Given the description of an element on the screen output the (x, y) to click on. 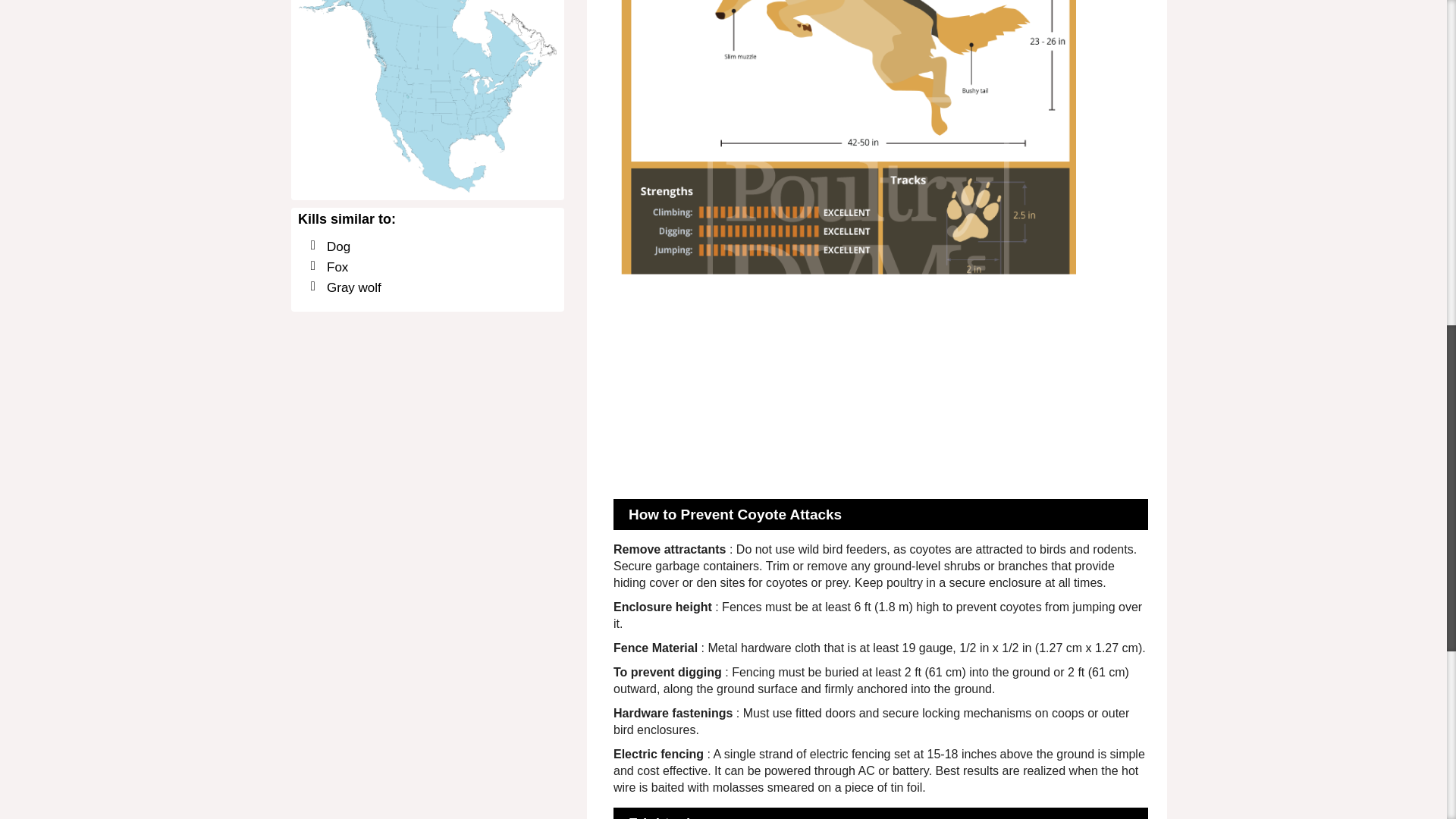
How to Prevent Coyote Attacks (734, 514)
Fox (336, 267)
Gray wolf (353, 287)
Dog (338, 246)
